Given the description of an element on the screen output the (x, y) to click on. 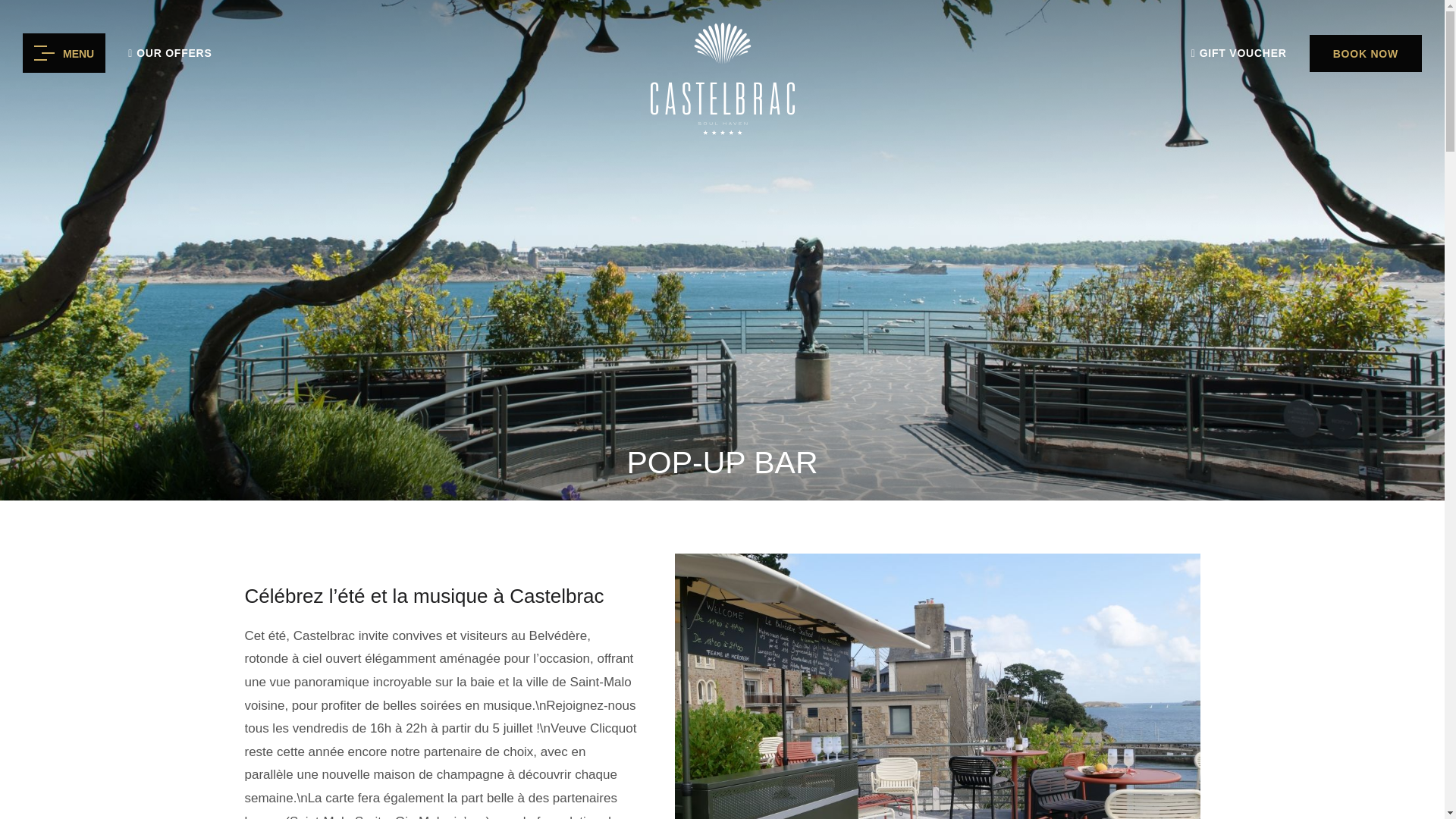
BOOK NOW (1365, 53)
GIFT VOUCHER (1239, 55)
MENU (63, 52)
OUR OFFERS (169, 55)
